Given the description of an element on the screen output the (x, y) to click on. 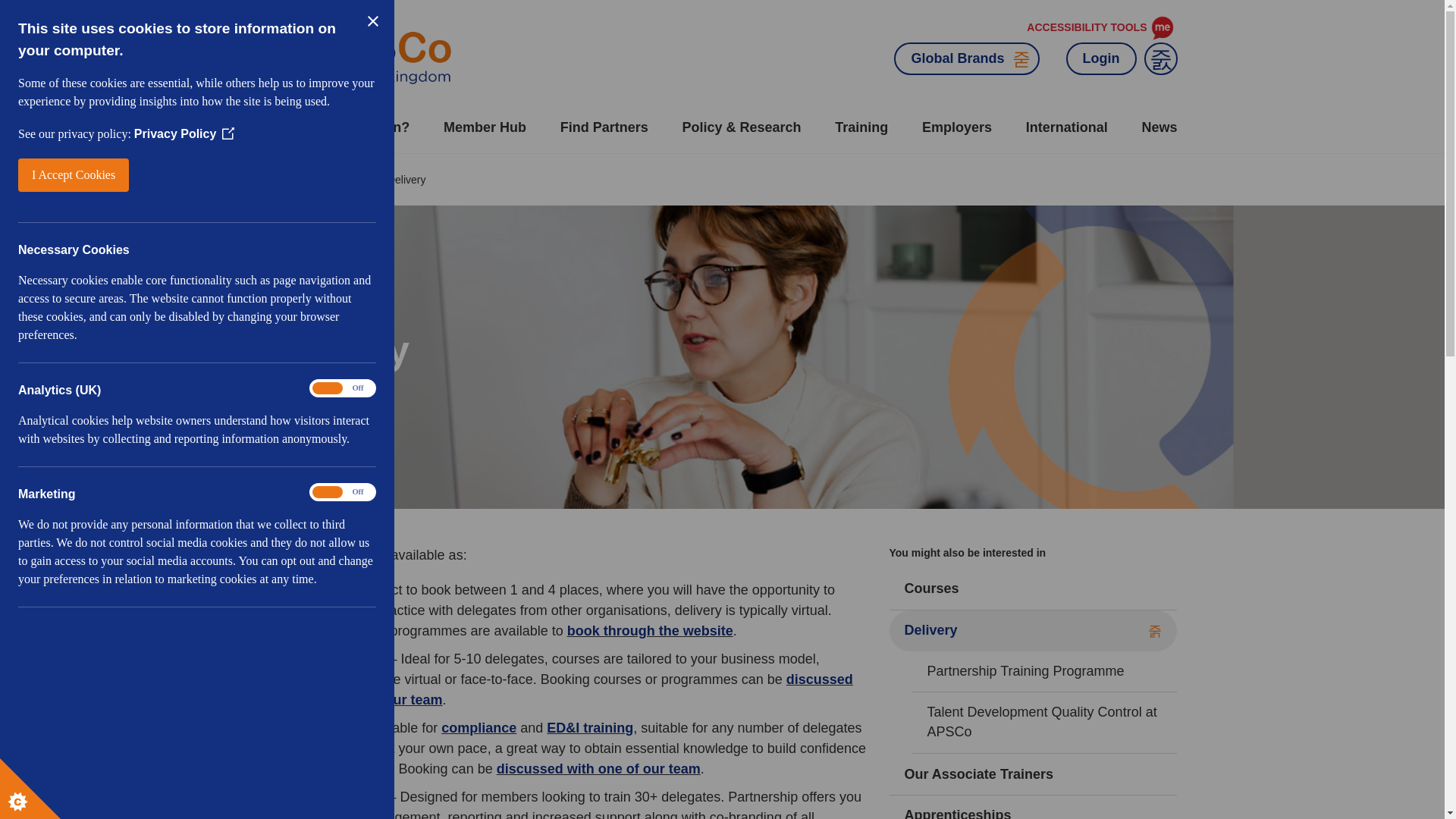
About (285, 127)
ACCESSIBILITY TOOLS (1099, 27)
Global Brands (966, 58)
Member Hub (484, 127)
Login (1101, 58)
Why Join? (374, 127)
